Given the description of an element on the screen output the (x, y) to click on. 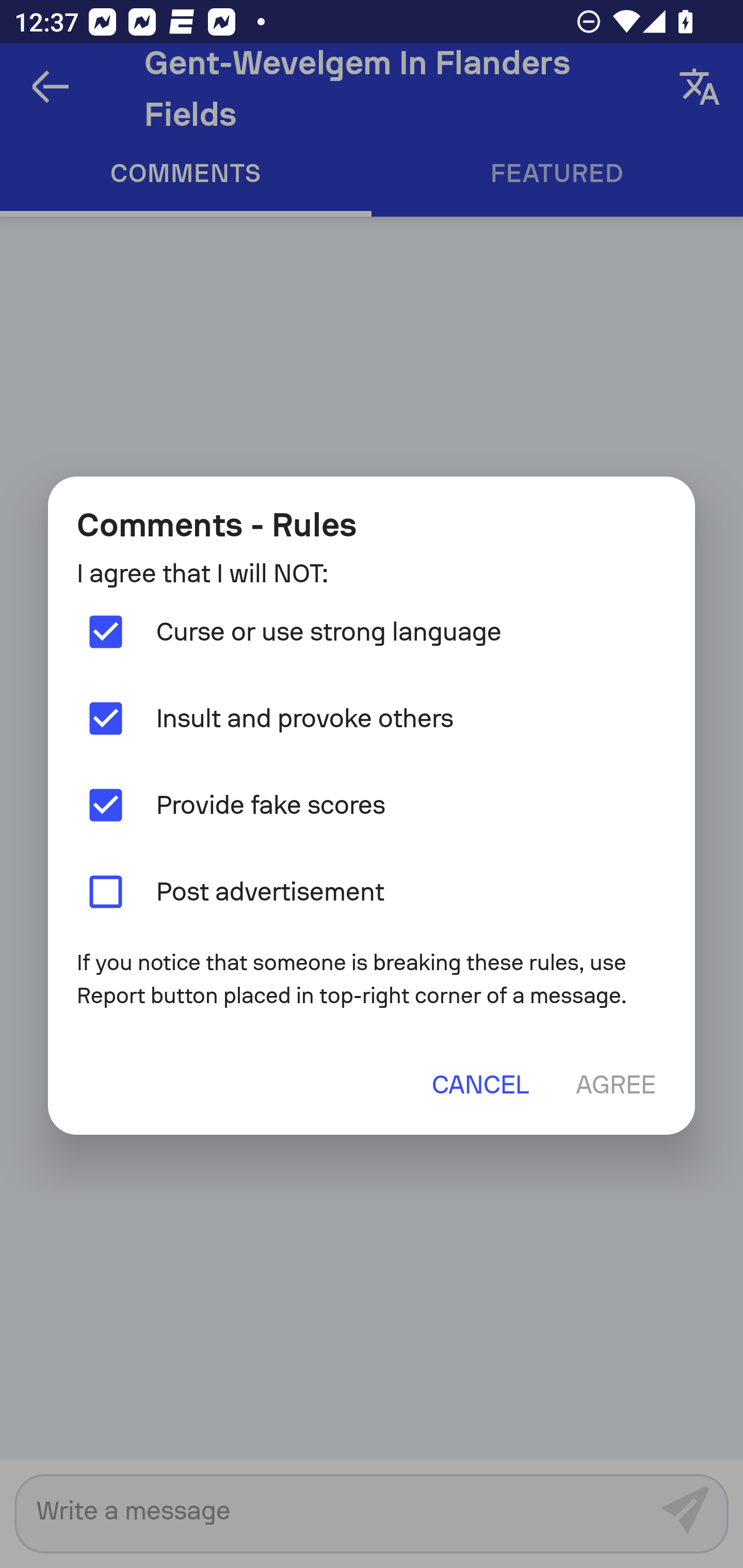
Curse or use strong language (371, 631)
Insult and provoke others (371, 718)
Provide fake scores (371, 805)
Post advertisement (371, 891)
CANCEL (479, 1084)
AGREE (615, 1084)
